Given the description of an element on the screen output the (x, y) to click on. 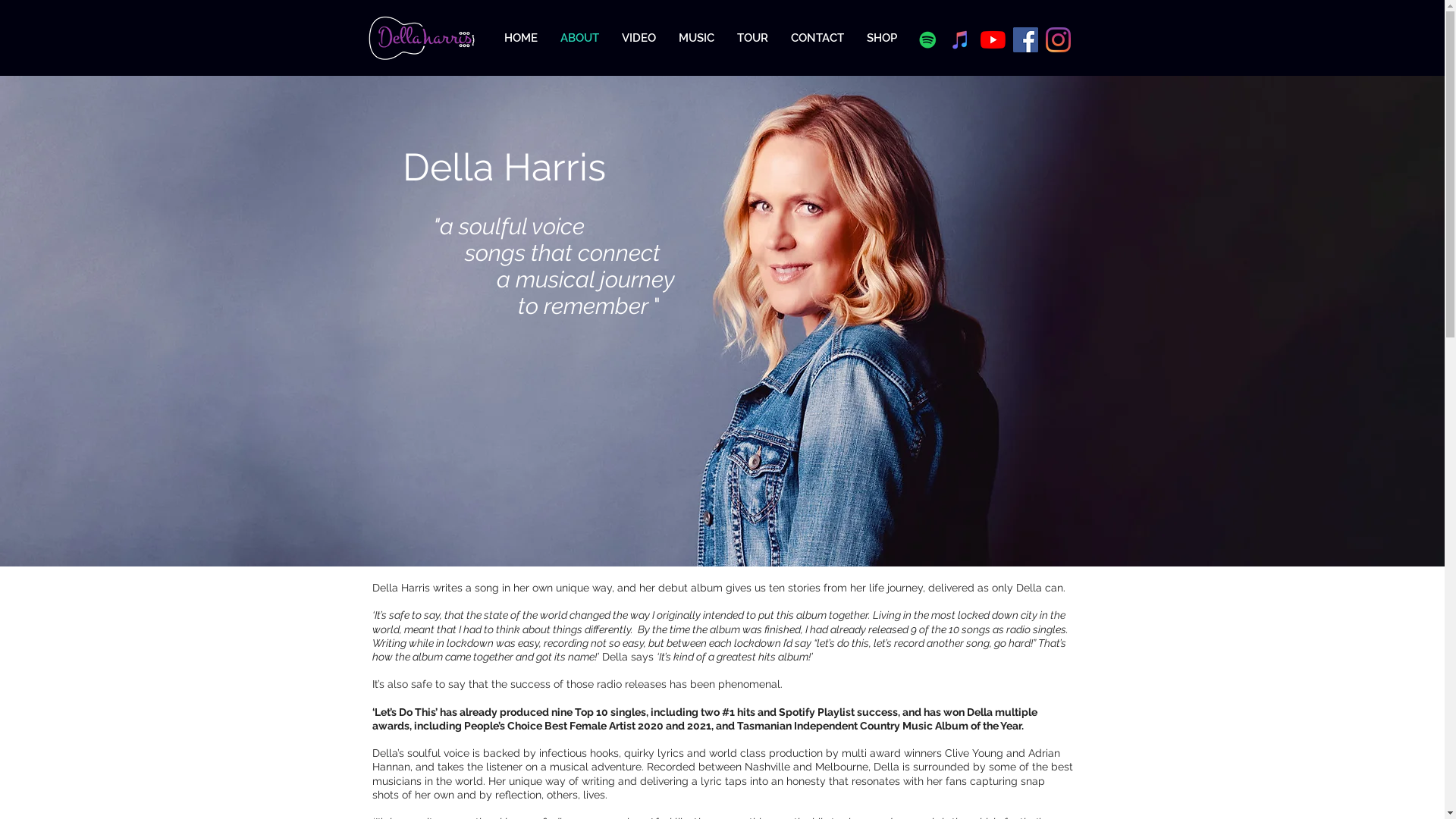
MUSIC Element type: text (696, 37)
SHOP Element type: text (881, 37)
VIDEO Element type: text (637, 37)
HOME Element type: text (520, 37)
ABOUT Element type: text (579, 37)
CONTACT Element type: text (817, 37)
TOUR Element type: text (751, 37)
